Given the description of an element on the screen output the (x, y) to click on. 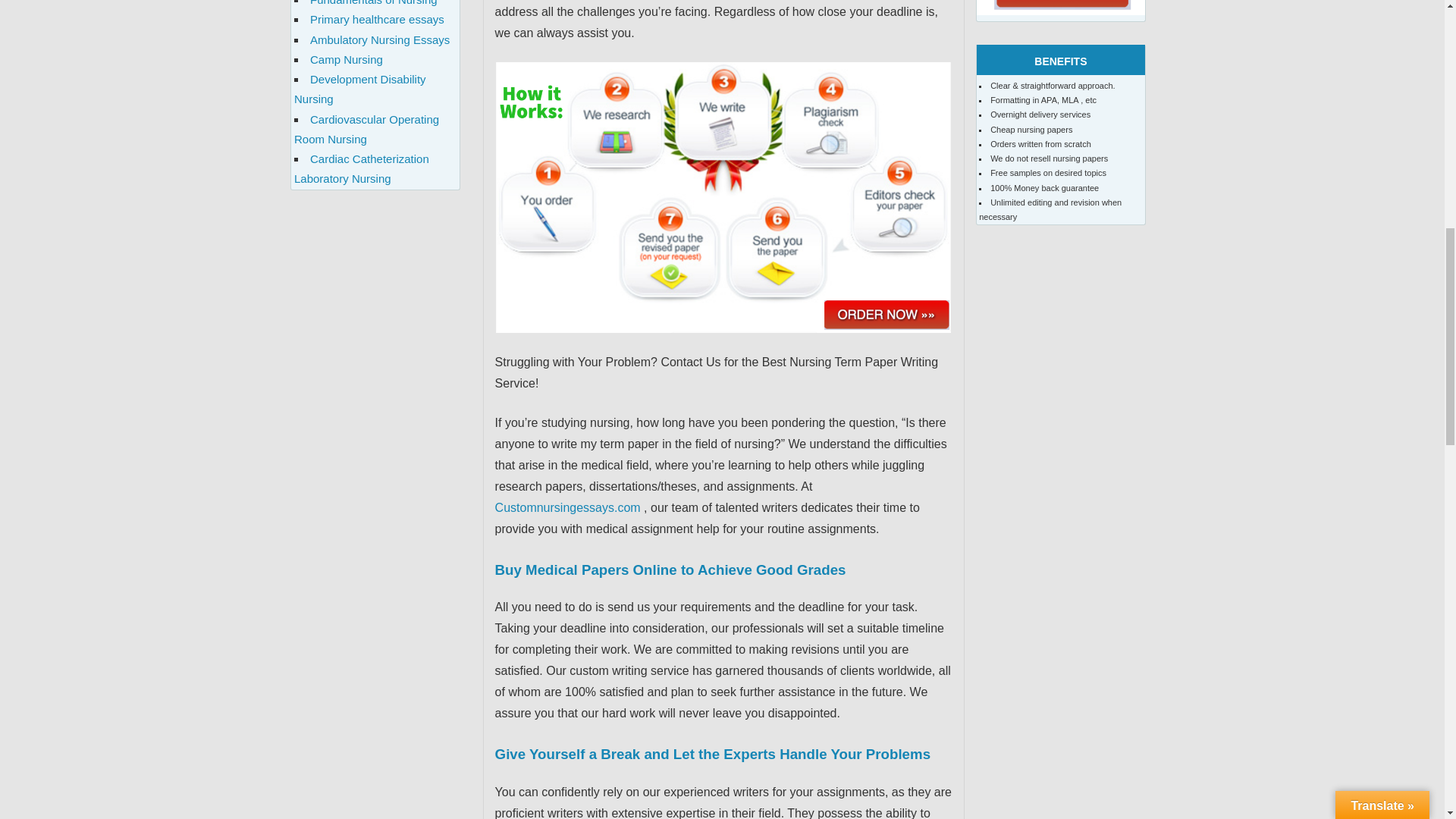
Customnursingessays.com (567, 507)
Fundamentals of Nursing (374, 2)
Ambulatory Nursing Essays (379, 39)
Cardiovascular Operating Room Nursing (366, 129)
Development Disability Nursing (360, 88)
Camp Nursing (346, 59)
Primary healthcare essays (377, 19)
Cardiac Catheterization Laboratory Nursing (361, 168)
